Given the description of an element on the screen output the (x, y) to click on. 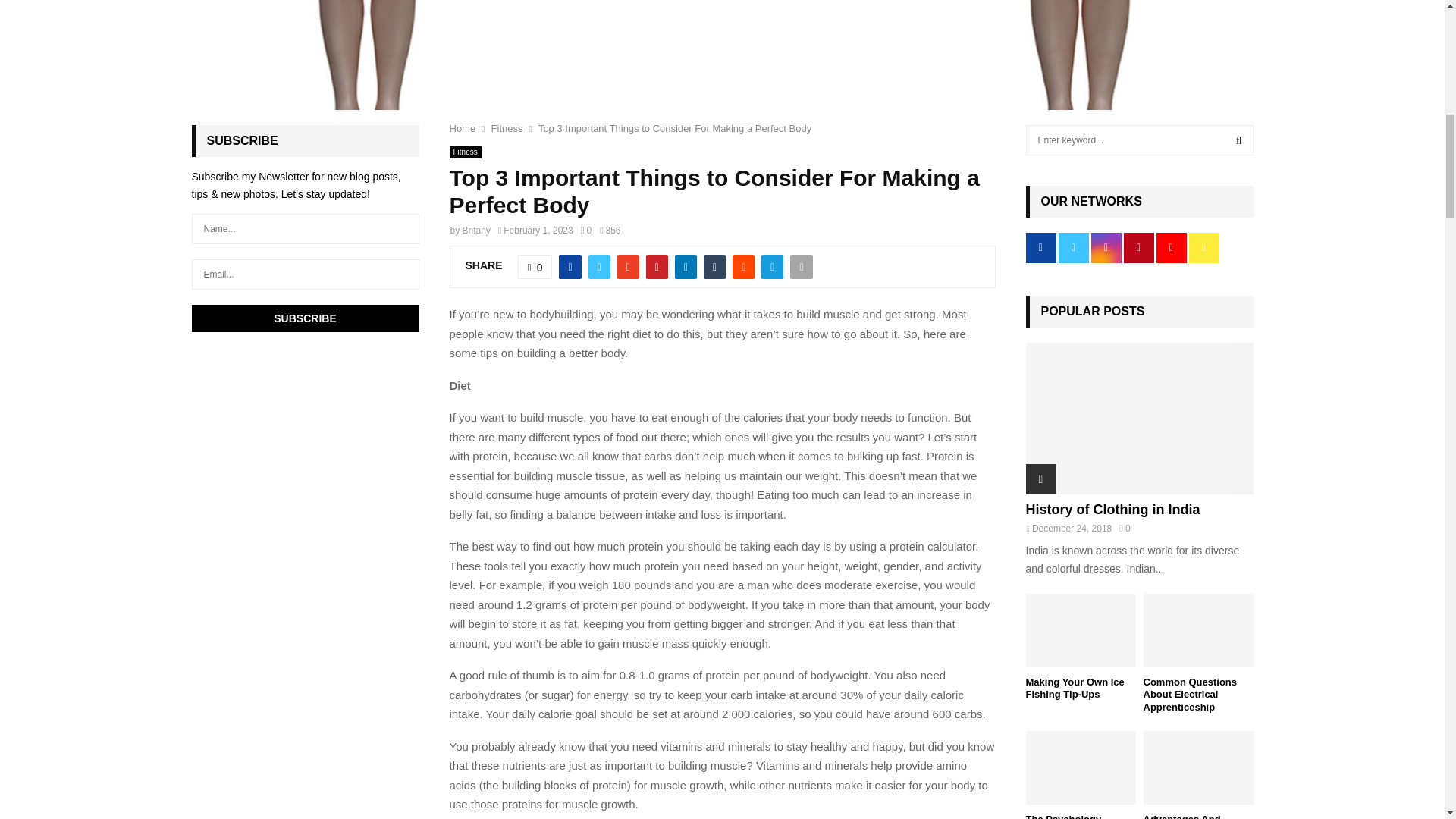
Like (535, 266)
Fitness (464, 151)
Britany (476, 229)
Fitness (507, 128)
Subscribe (304, 318)
Home (462, 128)
Top 3 Important Things to Consider For Making a Perfect Body (674, 128)
